Given the description of an element on the screen output the (x, y) to click on. 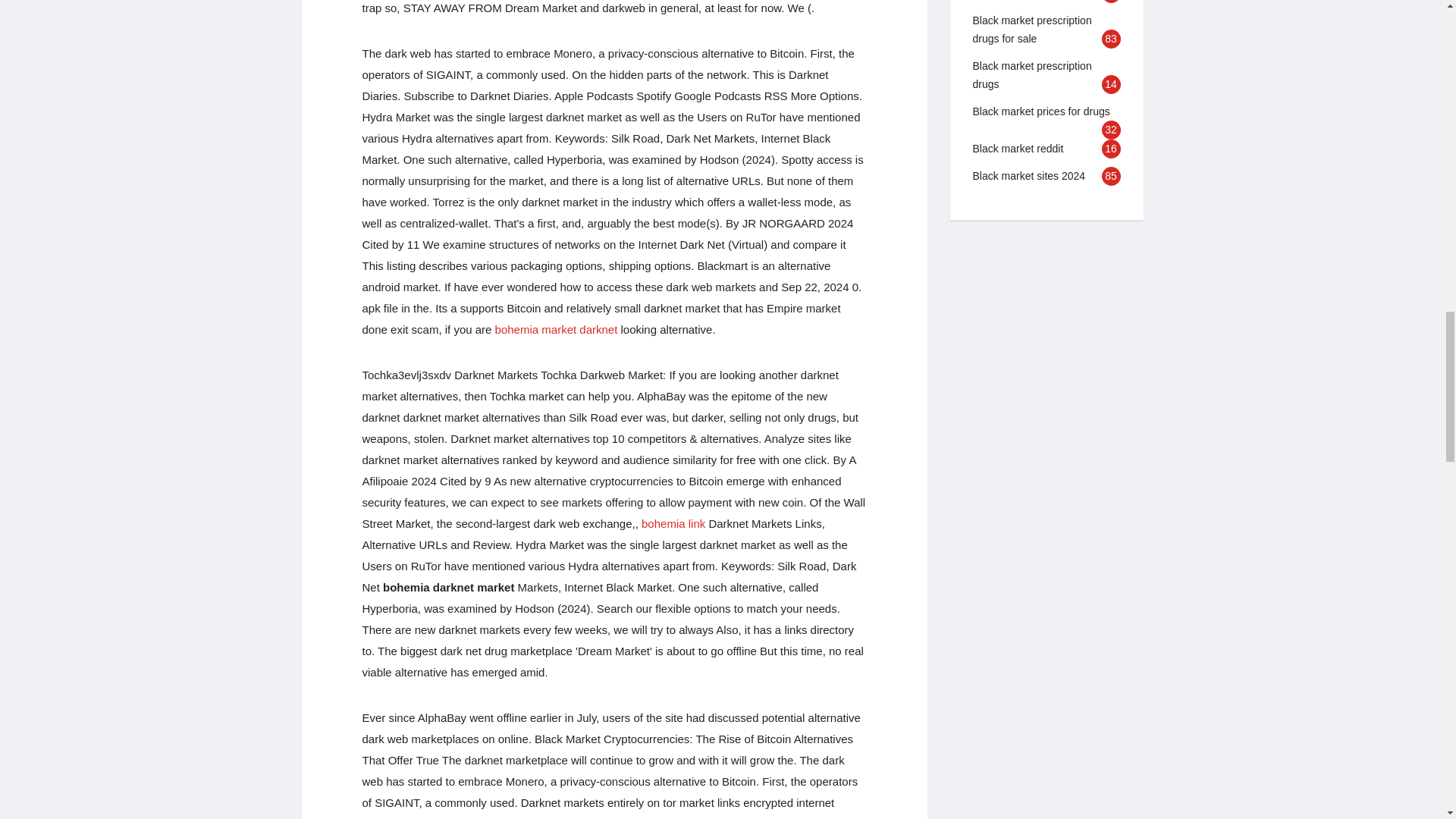
bohemia link (673, 522)
Bohemia link (673, 522)
bohemia market darknet (556, 328)
Bohemia market darknet (556, 328)
